Given the description of an element on the screen output the (x, y) to click on. 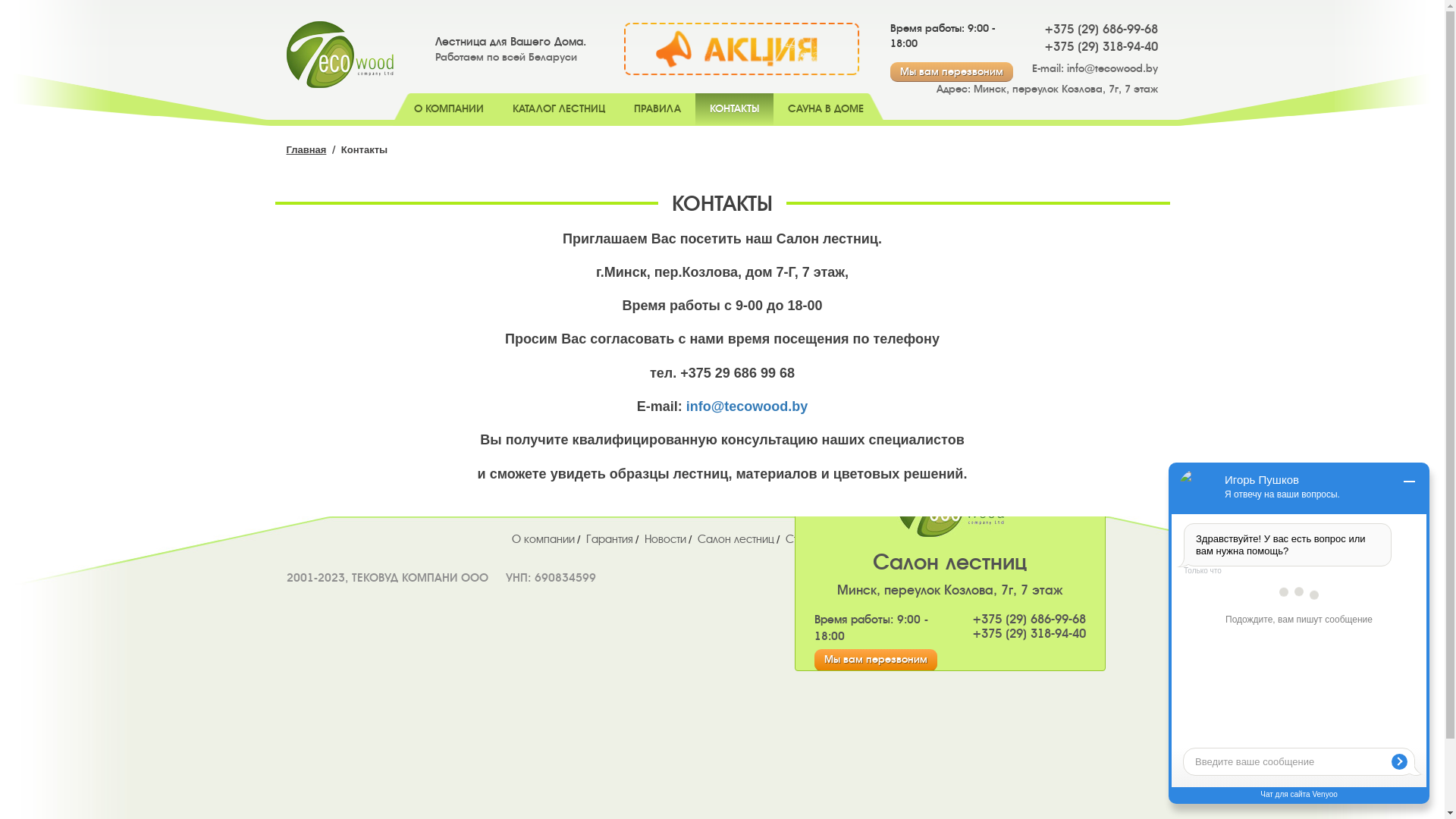
info@tecowood.by Element type: text (747, 406)
info@tecowood.by Element type: text (1111, 68)
